Given the description of an element on the screen output the (x, y) to click on. 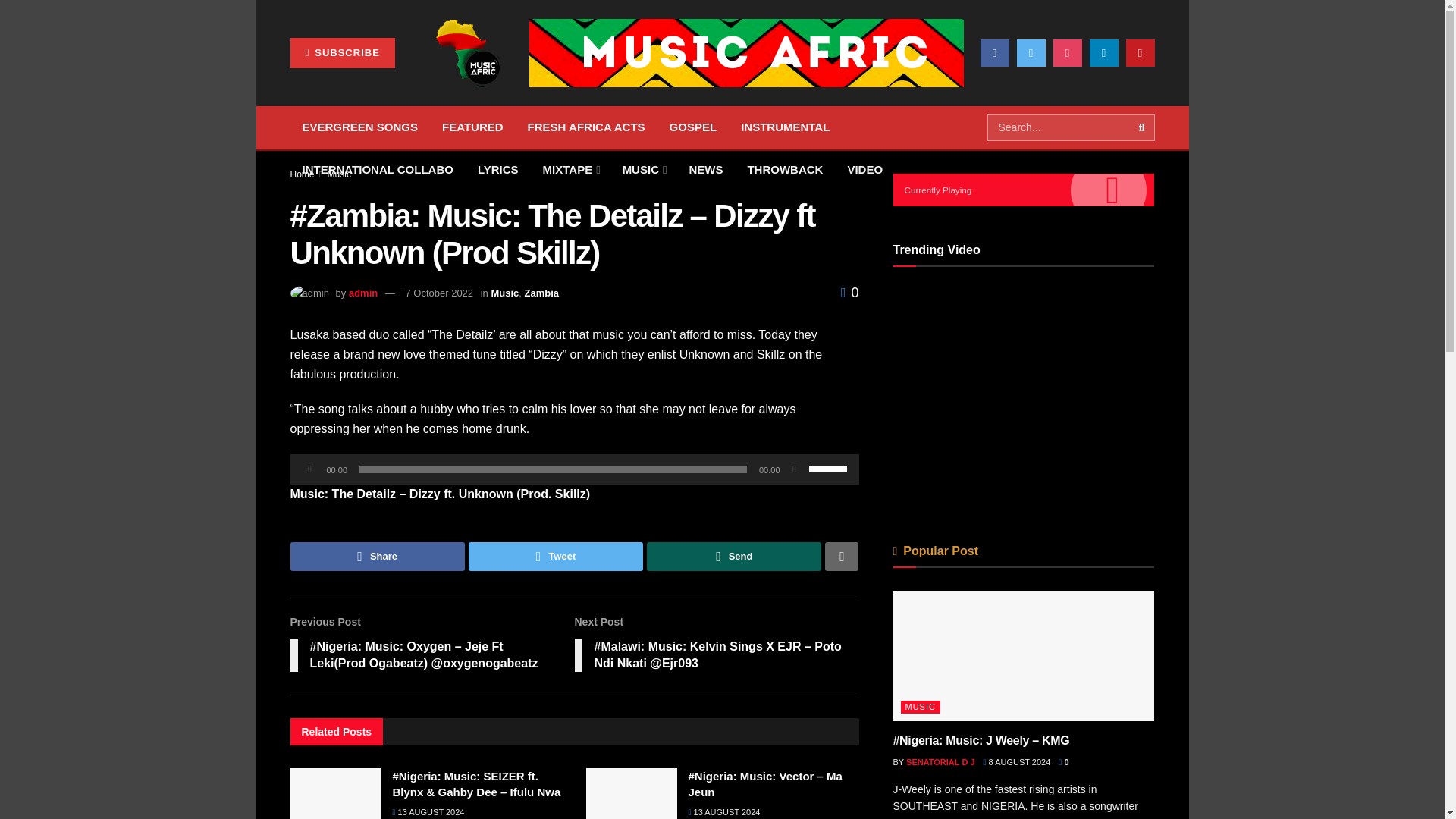
INSTRUMENTAL (785, 127)
SUBSCRIBE (341, 52)
MIXTAPE (570, 169)
ALBUM (381, 84)
FRESH AFRICA ACTS (586, 127)
INTERNATIONAL COLLABO (376, 169)
FEATURED (472, 127)
LYRICS (498, 169)
Mute (794, 468)
HOME (318, 84)
